Given the description of an element on the screen output the (x, y) to click on. 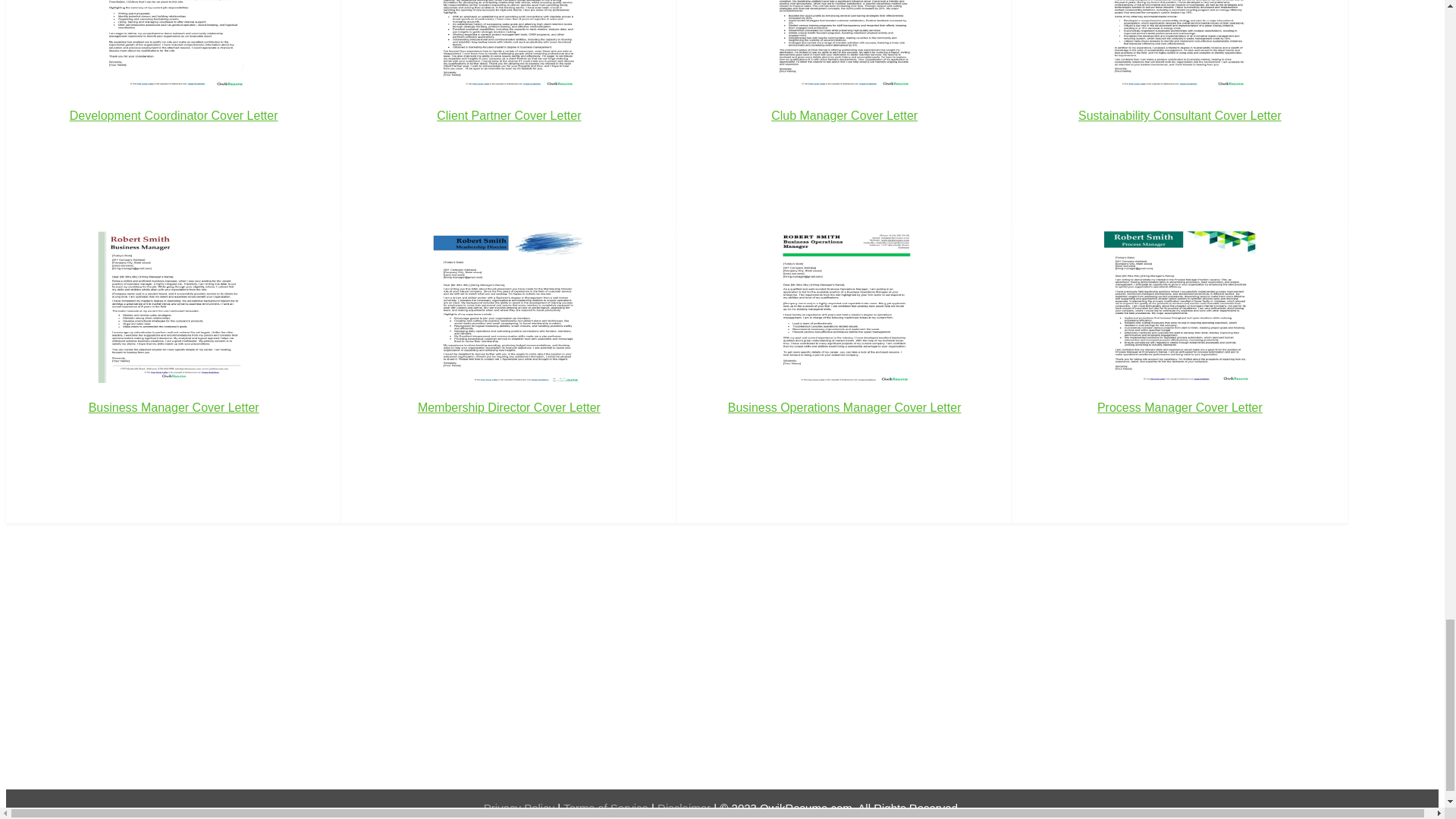
Business Manager Cover Letter (172, 348)
View All Cover Letter Examples (76, 532)
Club Manager Cover Letter Example (844, 45)
Sustainability Consultant Cover Letter (1179, 87)
Membership Director Cover Letter Example (508, 306)
Process Manager Cover Letter (1179, 348)
Terms of Service (606, 807)
Development Coordinator Cover Letter Example (172, 45)
Membership Director Cover Letter (508, 348)
Club Manager Cover Letter (844, 87)
Client Partner Cover Letter Example (508, 45)
Development Coordinator Cover Letter (172, 87)
Privacy Policy (520, 807)
Business Operations Manager Cover Letter (844, 348)
View All Cover Letter Examples (76, 532)
